Given the description of an element on the screen output the (x, y) to click on. 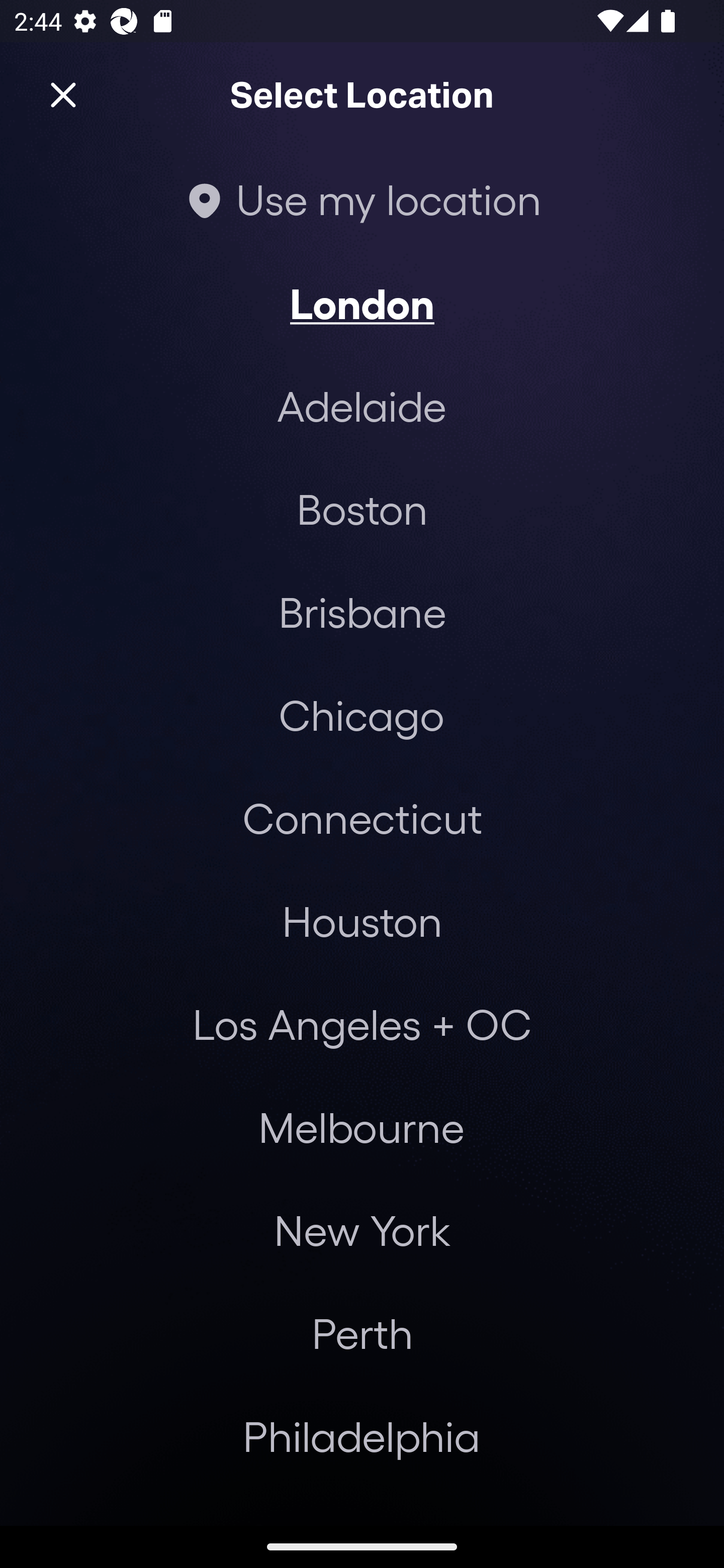
Close (62, 95)
   Use my location (362, 198)
London (361, 302)
Adelaide (361, 405)
Boston (361, 508)
Brisbane (361, 611)
Chicago (361, 714)
Connecticut (361, 817)
Houston (361, 920)
Los Angeles + OC (361, 1023)
Melbourne (361, 1127)
New York (361, 1230)
Perth (361, 1332)
Philadelphia (361, 1436)
